Given the description of an element on the screen output the (x, y) to click on. 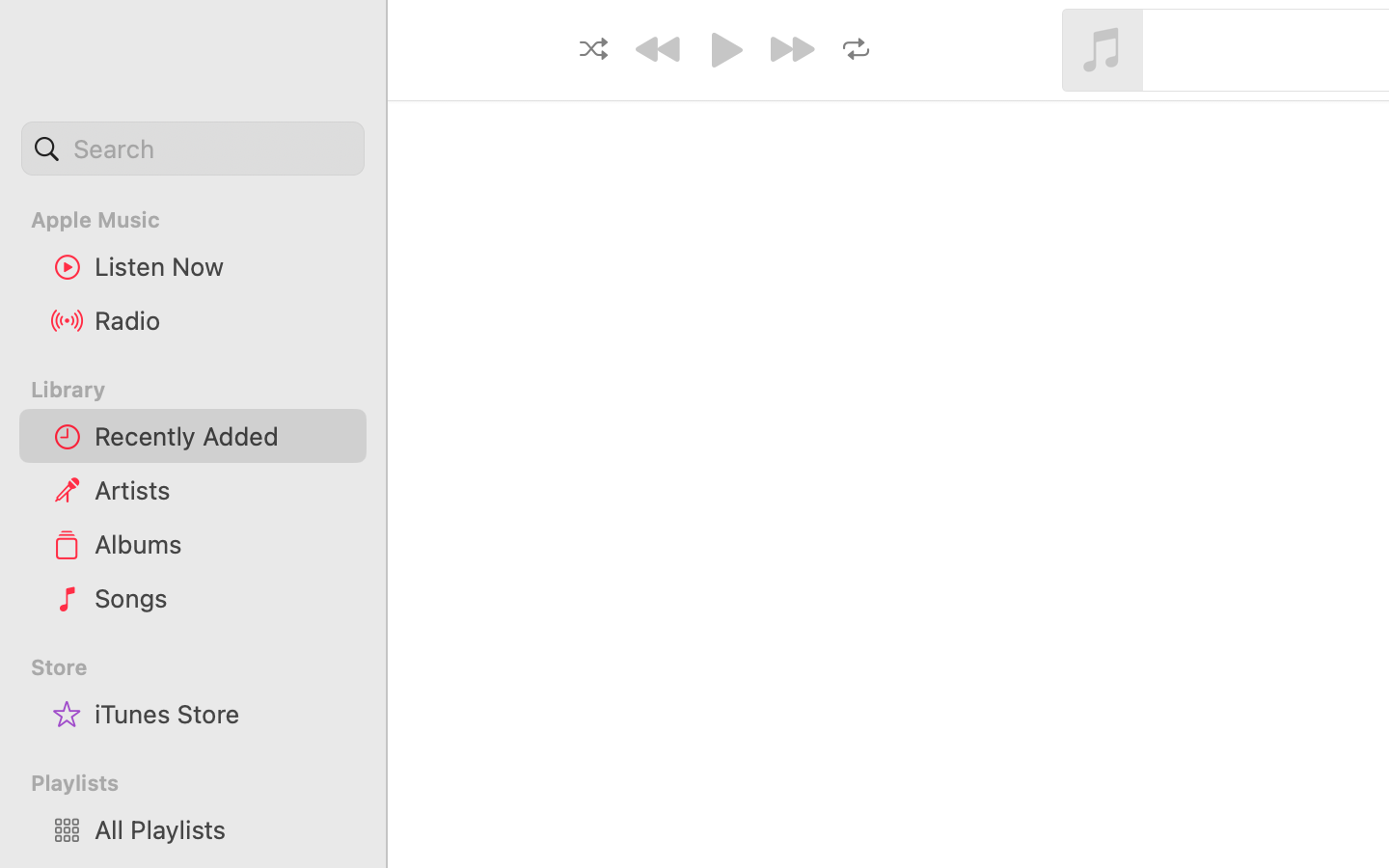
Library Element type: AXStaticText (191, 389)
Recently Added Element type: AXStaticText (222, 435)
All Playlists Element type: AXStaticText (222, 828)
Playlists Element type: AXStaticText (204, 782)
Songs Element type: AXStaticText (222, 597)
